Given the description of an element on the screen output the (x, y) to click on. 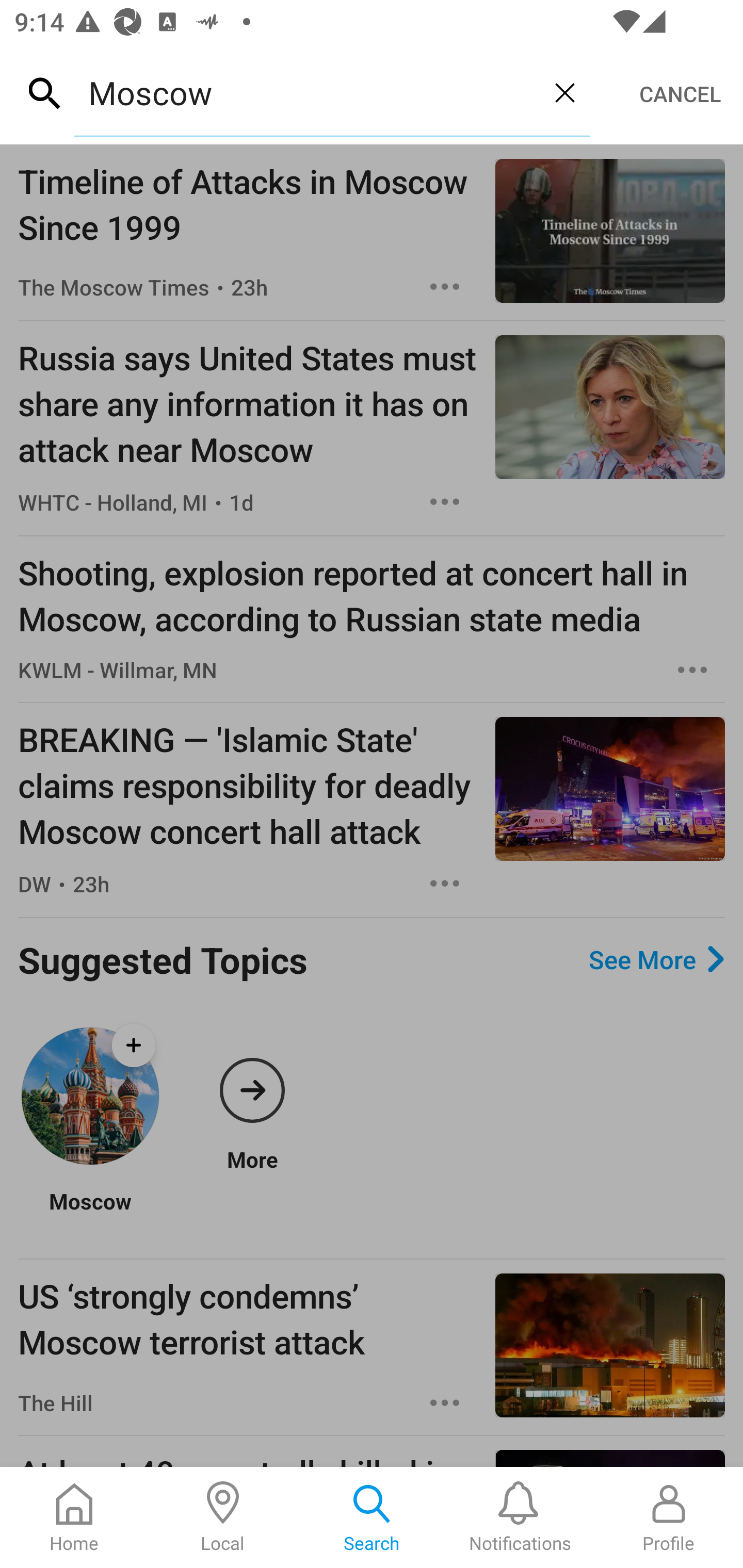
Clear query (564, 92)
CANCEL (680, 93)
Moscow (306, 92)
Options (444, 286)
Options (444, 501)
Options (692, 669)
Options (444, 883)
See More (656, 959)
More (251, 1095)
Moscow (89, 1213)
Options (444, 1403)
Home (74, 1517)
Local (222, 1517)
Notifications (519, 1517)
Profile (668, 1517)
